Given the description of an element on the screen output the (x, y) to click on. 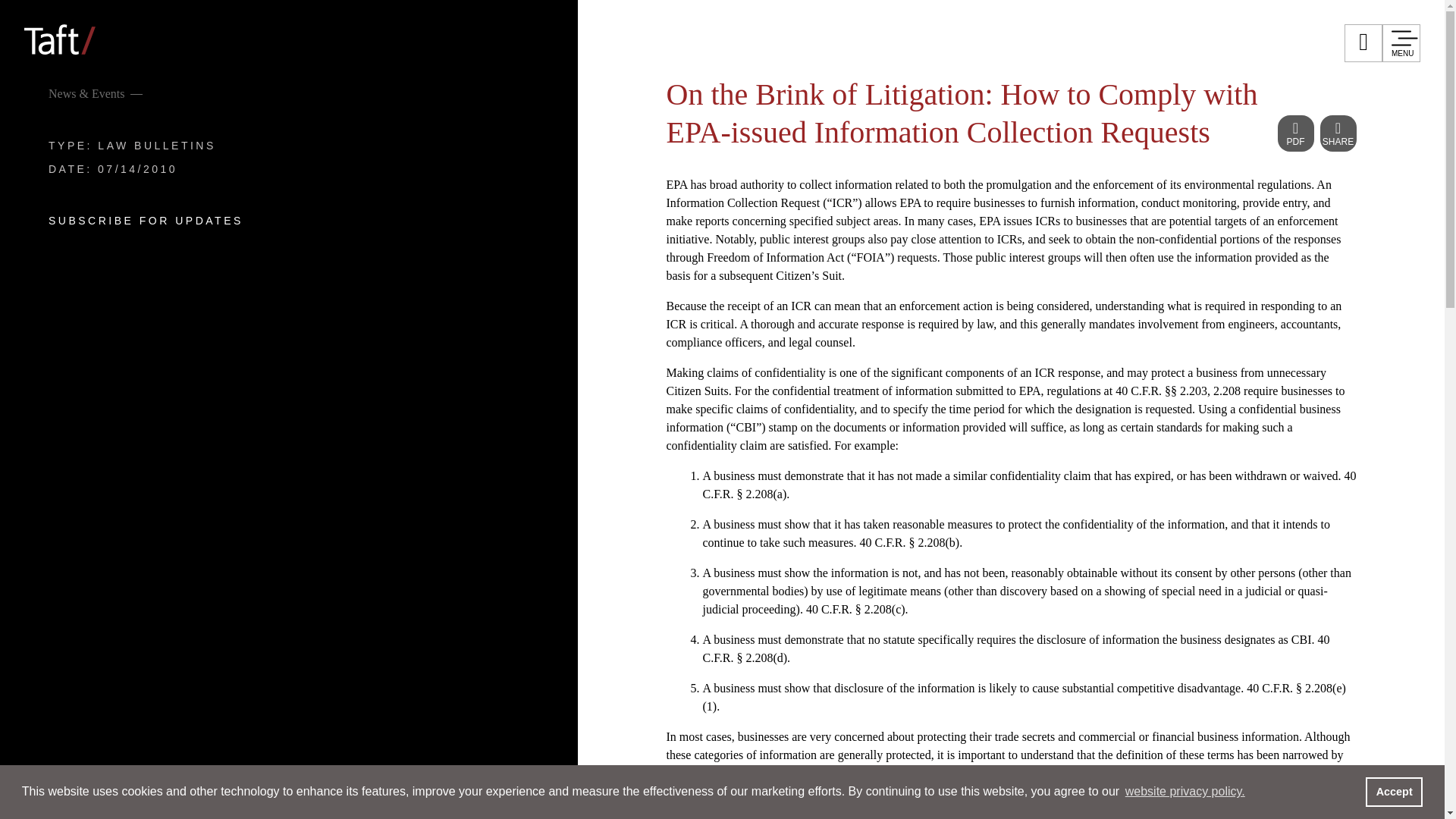
Accept (1393, 791)
SUBSCRIBE FOR UPDATES (145, 220)
MENU (1401, 43)
website privacy policy. (1184, 791)
